Given the description of an element on the screen output the (x, y) to click on. 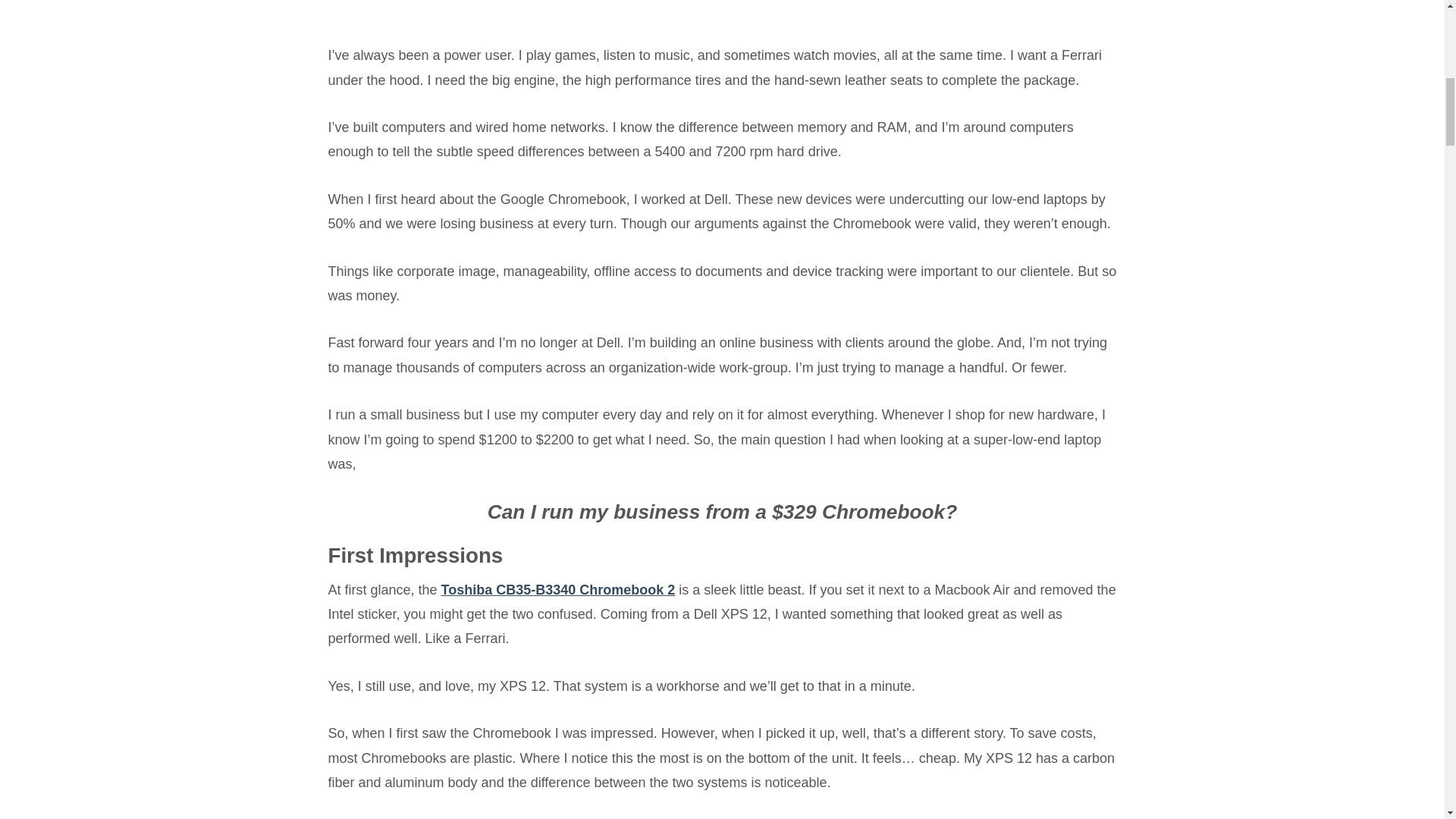
Toshiba CB35-B3340 Chromebook 2 (558, 589)
